Given the description of an element on the screen output the (x, y) to click on. 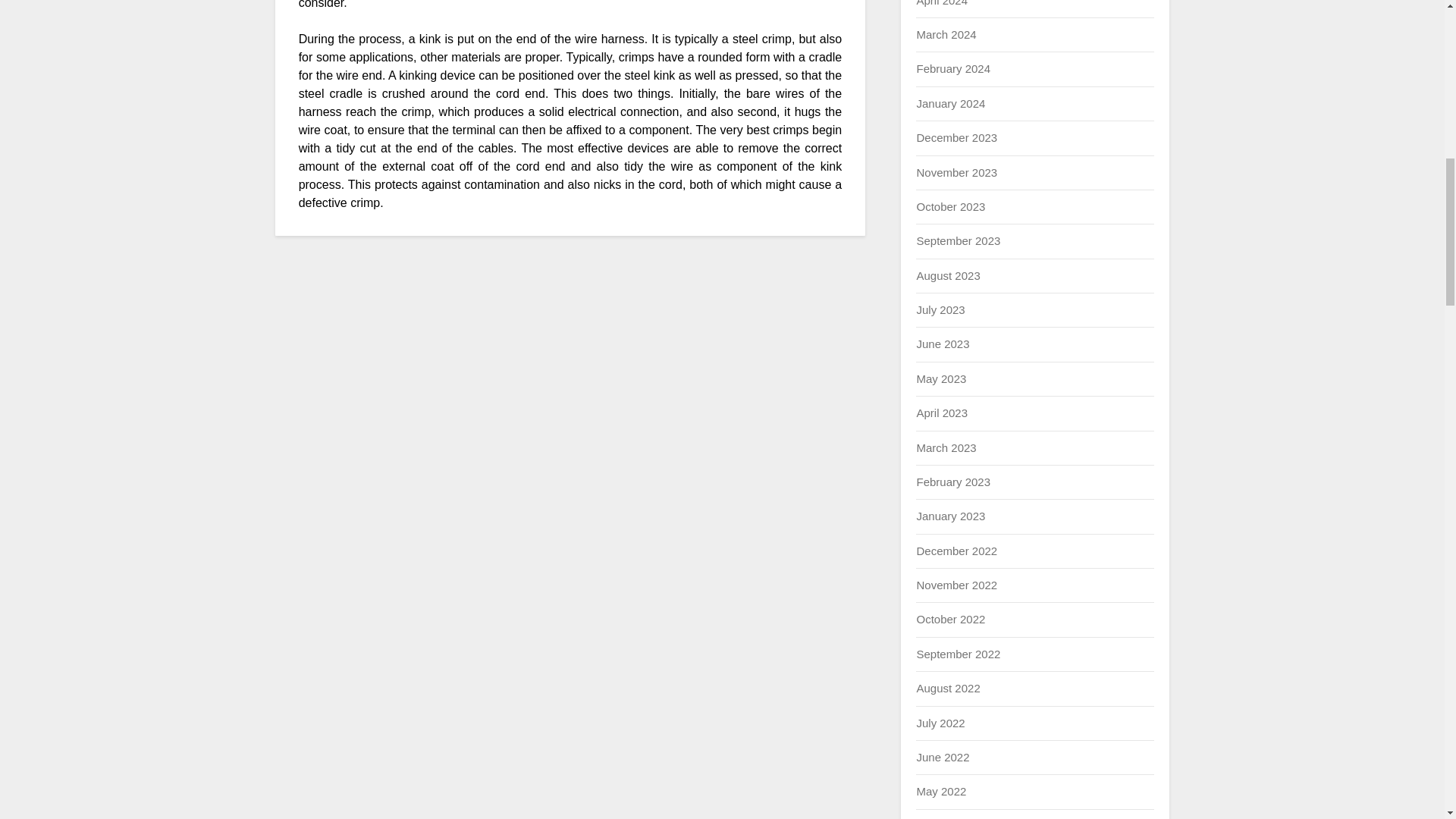
April 2024 (941, 3)
January 2024 (950, 103)
September 2023 (957, 240)
November 2023 (956, 172)
July 2023 (939, 309)
March 2023 (945, 447)
February 2024 (952, 68)
December 2023 (956, 137)
January 2023 (950, 515)
April 2023 (941, 412)
May 2023 (940, 378)
February 2023 (952, 481)
October 2023 (950, 205)
June 2023 (942, 343)
December 2022 (956, 550)
